Given the description of an element on the screen output the (x, y) to click on. 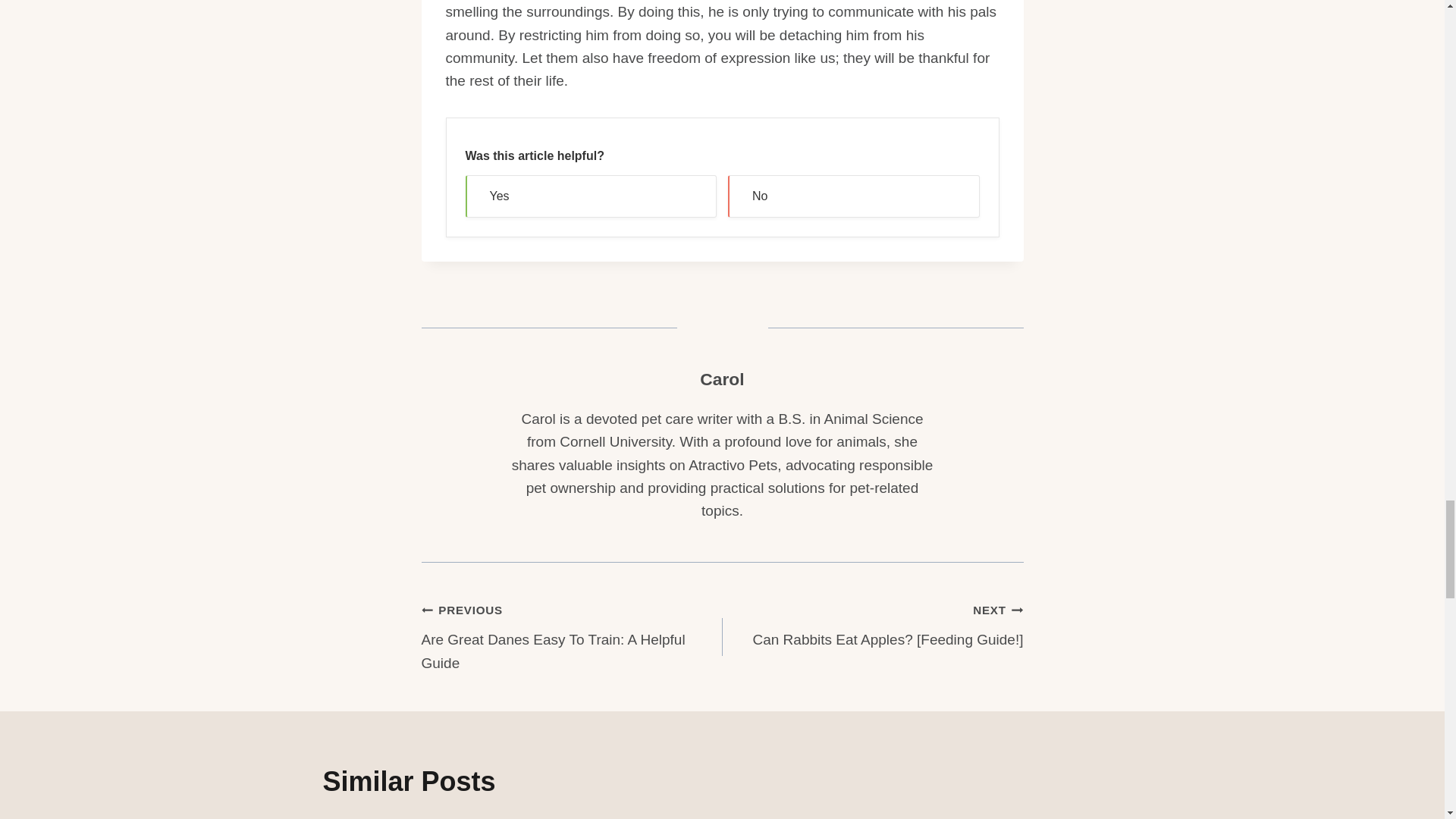
Posts by Carol (722, 379)
